Given the description of an element on the screen output the (x, y) to click on. 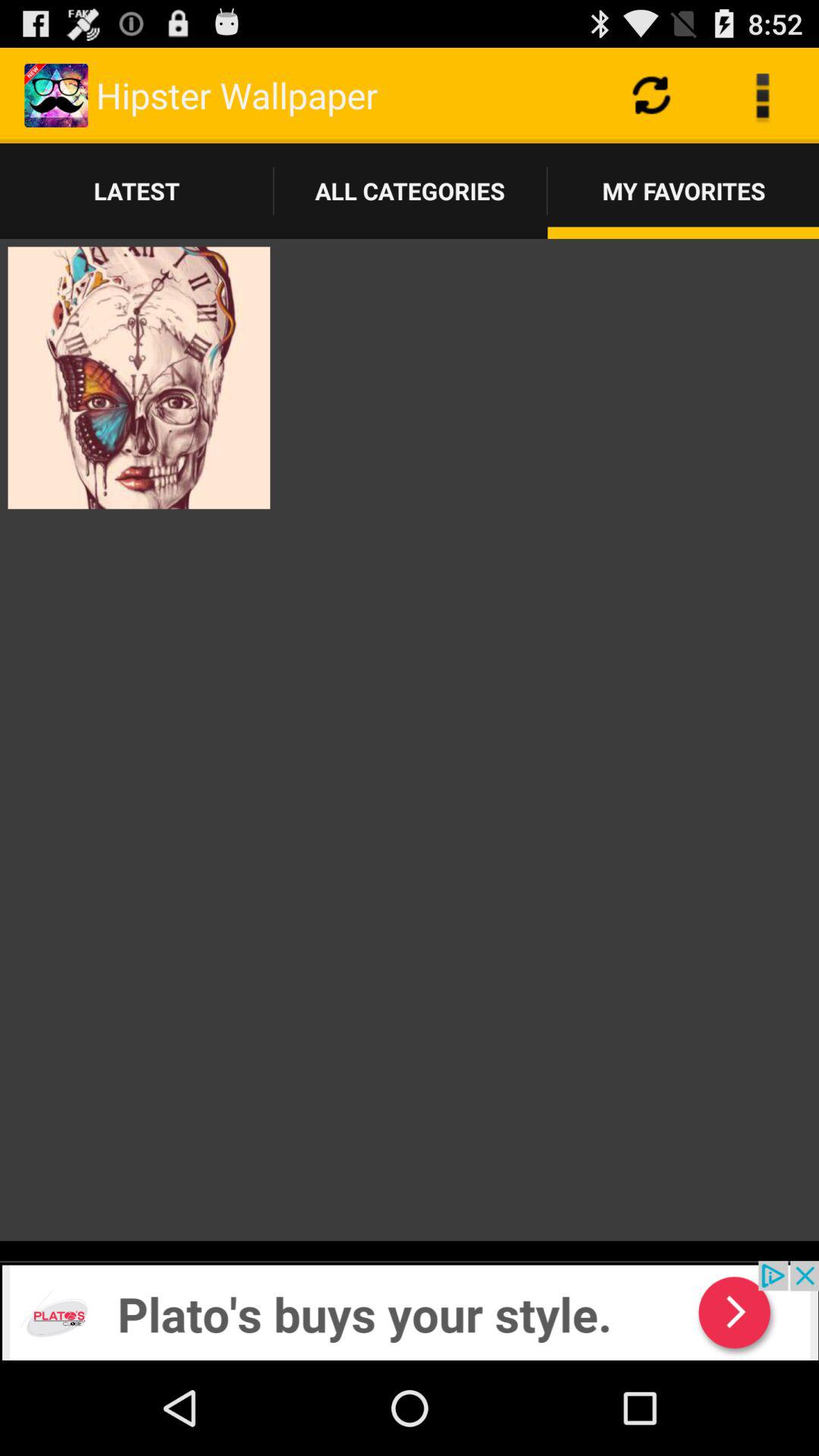
this button in next (409, 1310)
